Given the description of an element on the screen output the (x, y) to click on. 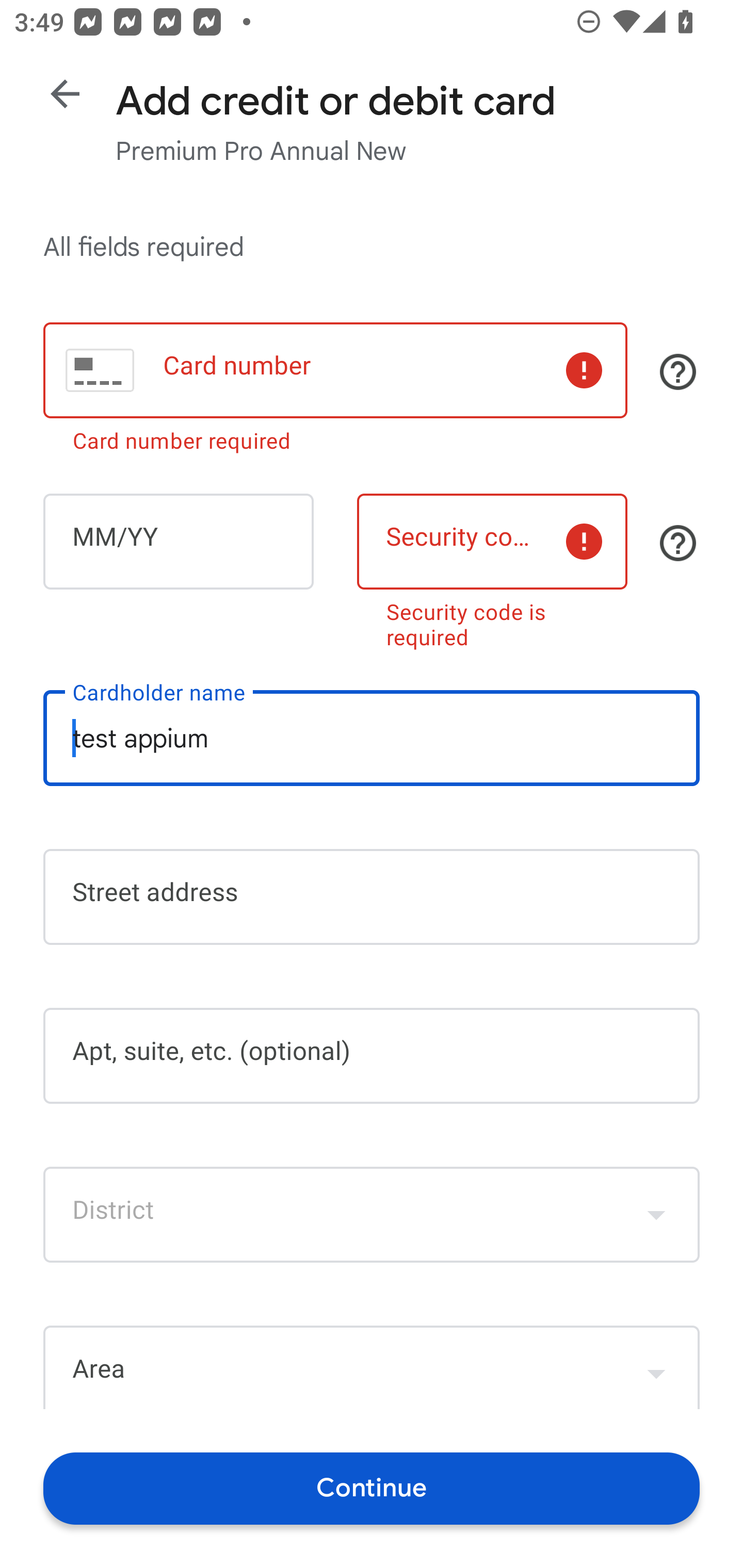
Back (64, 93)
Card number (335, 370)
Button, shows cards that are accepted for payment (677, 371)
Expiration date, 2 digit month, 2 digit year (178, 541)
Security code (492, 541)
Security code help (677, 543)
test appium (371, 737)
Street address (371, 896)
Apt, suite, etc. (optional) (371, 1055)
District (371, 1214)
Show dropdown menu (655, 1214)
Area (371, 1366)
Show dropdown menu (655, 1369)
Continue (371, 1487)
